Given the description of an element on the screen output the (x, y) to click on. 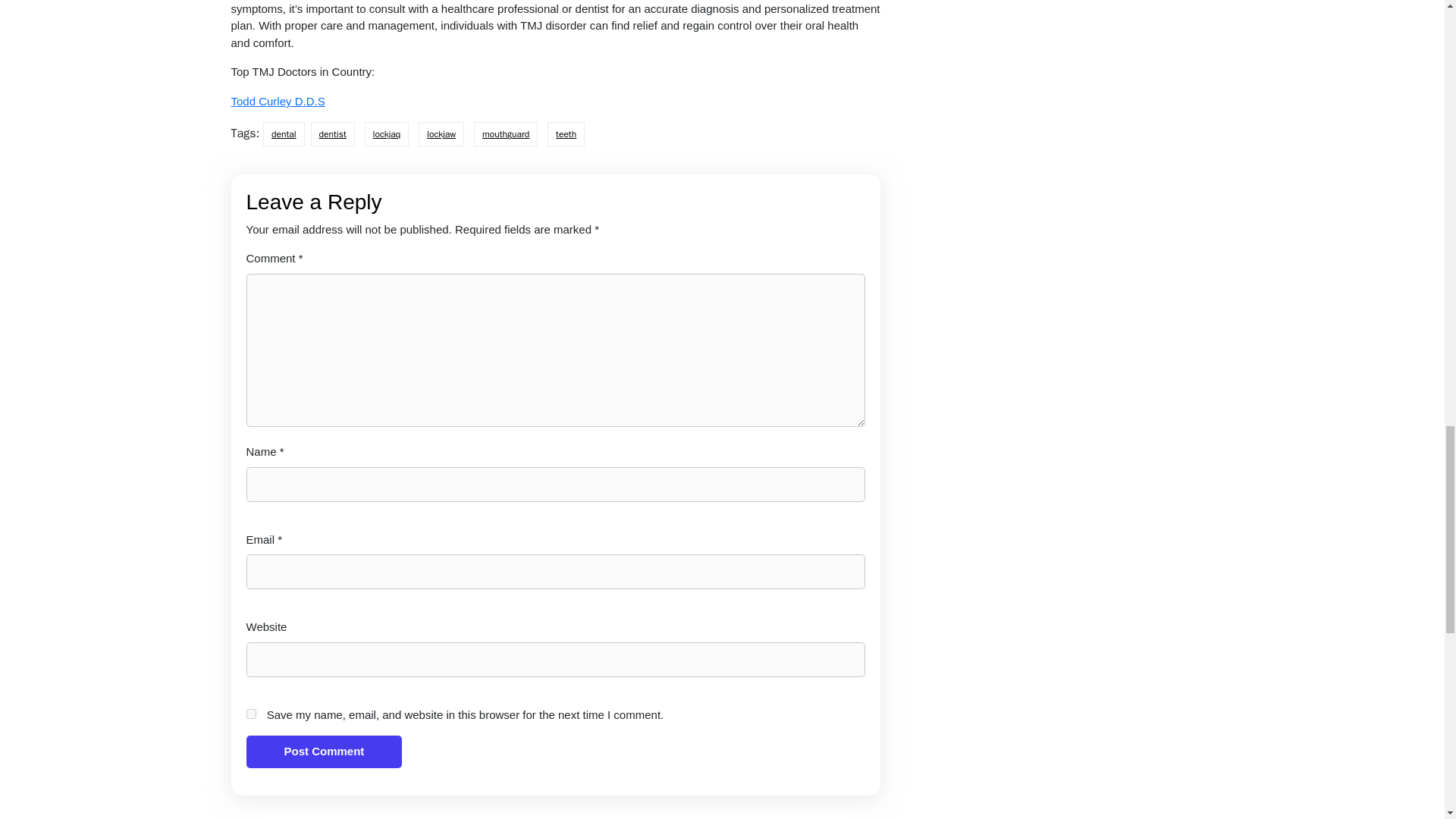
lockjaw (441, 134)
yes (251, 714)
lockjaq (387, 134)
dentist (333, 134)
Post Comment (323, 751)
Post Comment (323, 751)
Todd Curley D.D.S (277, 101)
dental (283, 134)
mouthguard (505, 134)
teeth (566, 134)
